Given the description of an element on the screen output the (x, y) to click on. 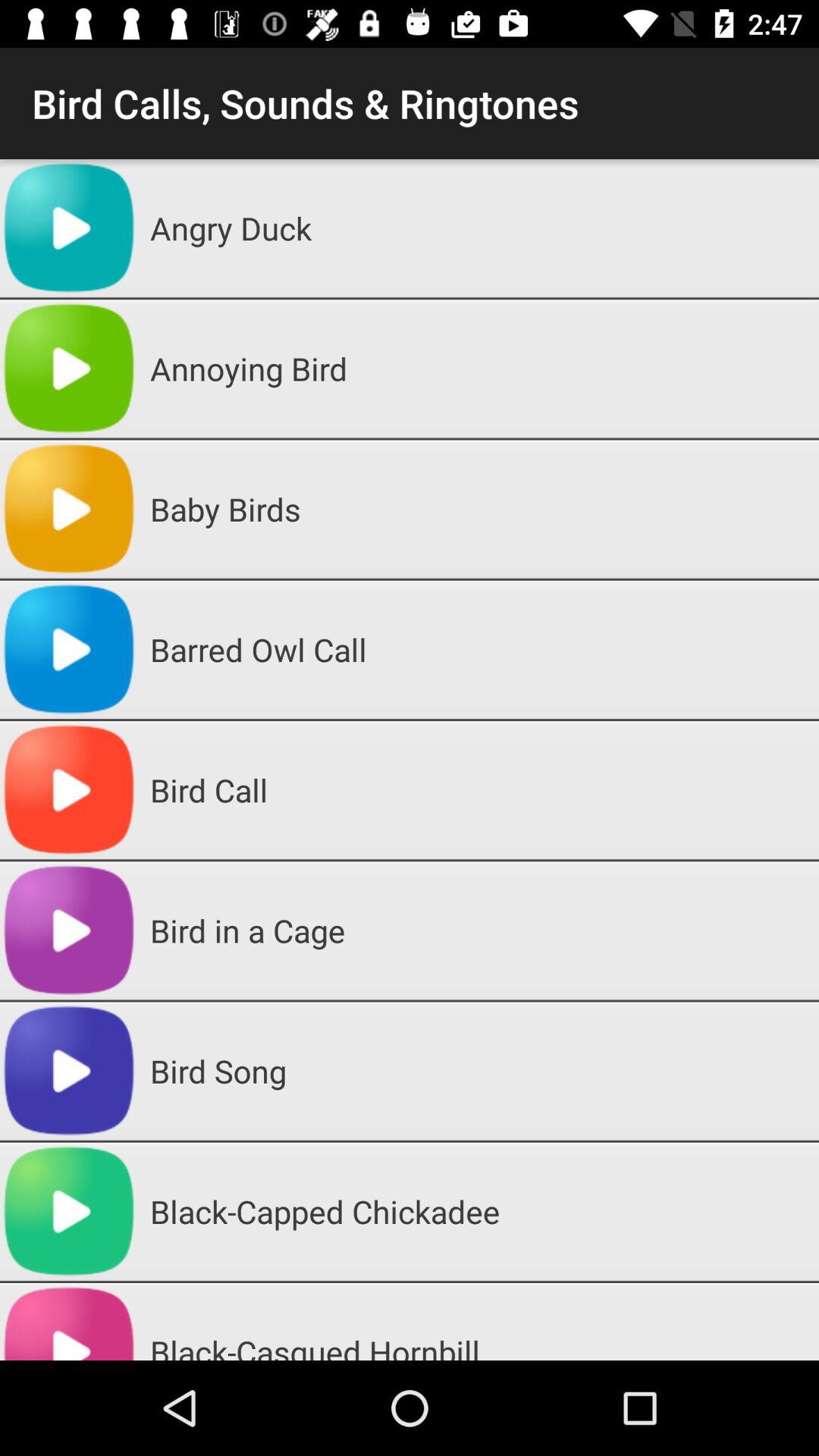
tap bird in a icon (478, 930)
